Given the description of an element on the screen output the (x, y) to click on. 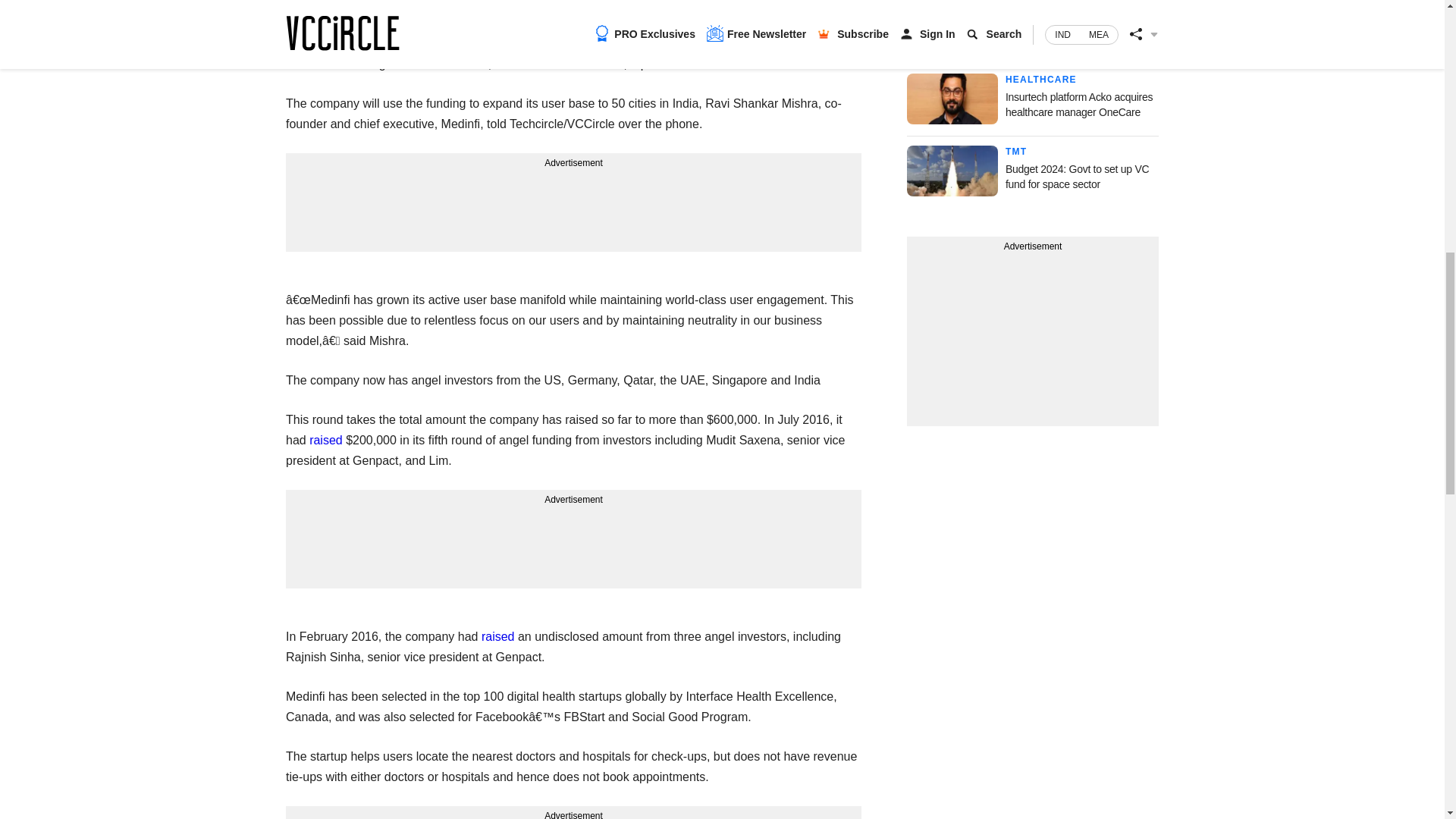
raised (325, 440)
raised (498, 635)
